Given the description of an element on the screen output the (x, y) to click on. 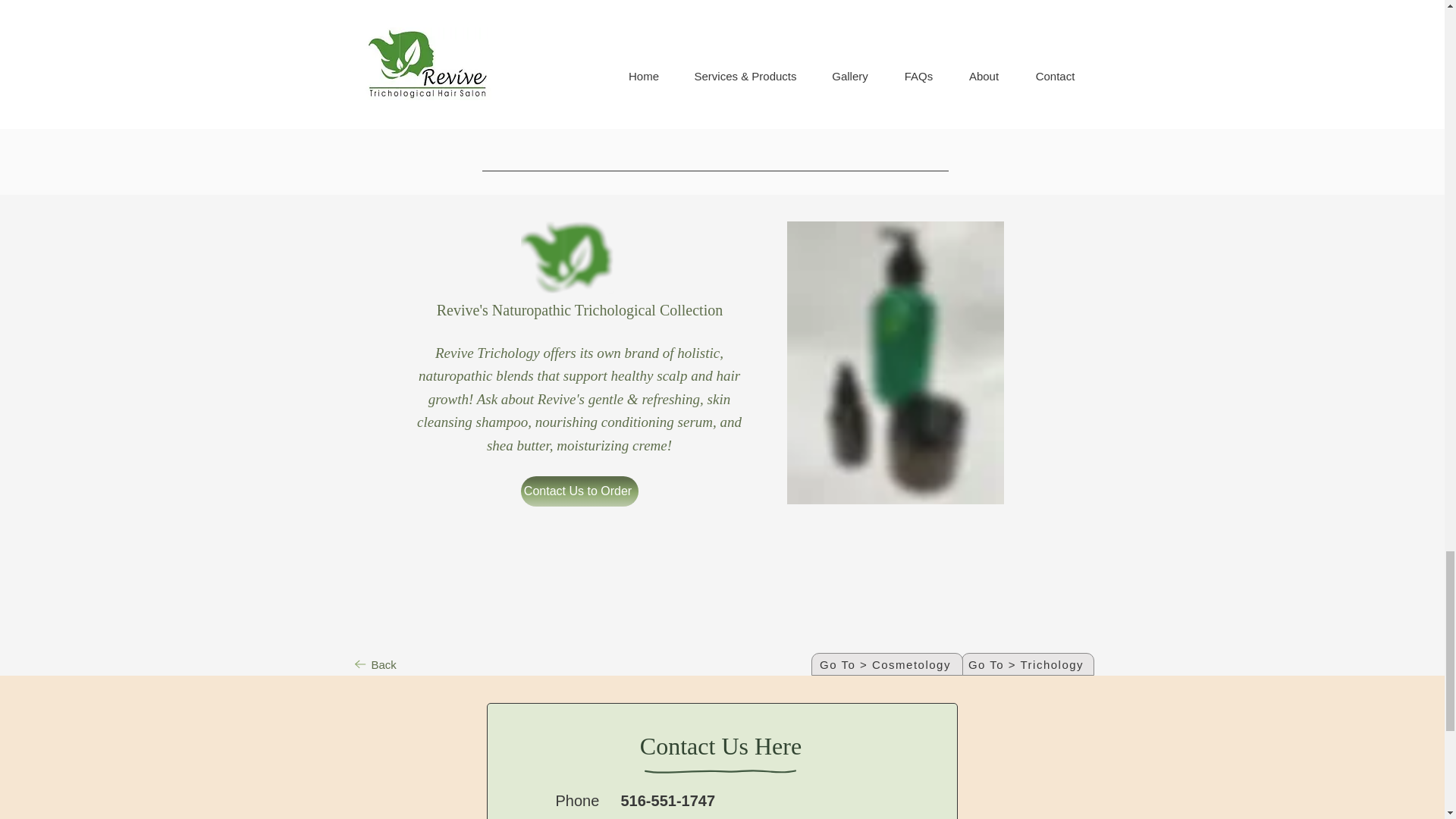
Contact Us to Order (578, 490)
Contact Us to Order (894, 30)
Revive Trichology offers its own brand of  (556, 352)
Back (376, 663)
